Given the description of an element on the screen output the (x, y) to click on. 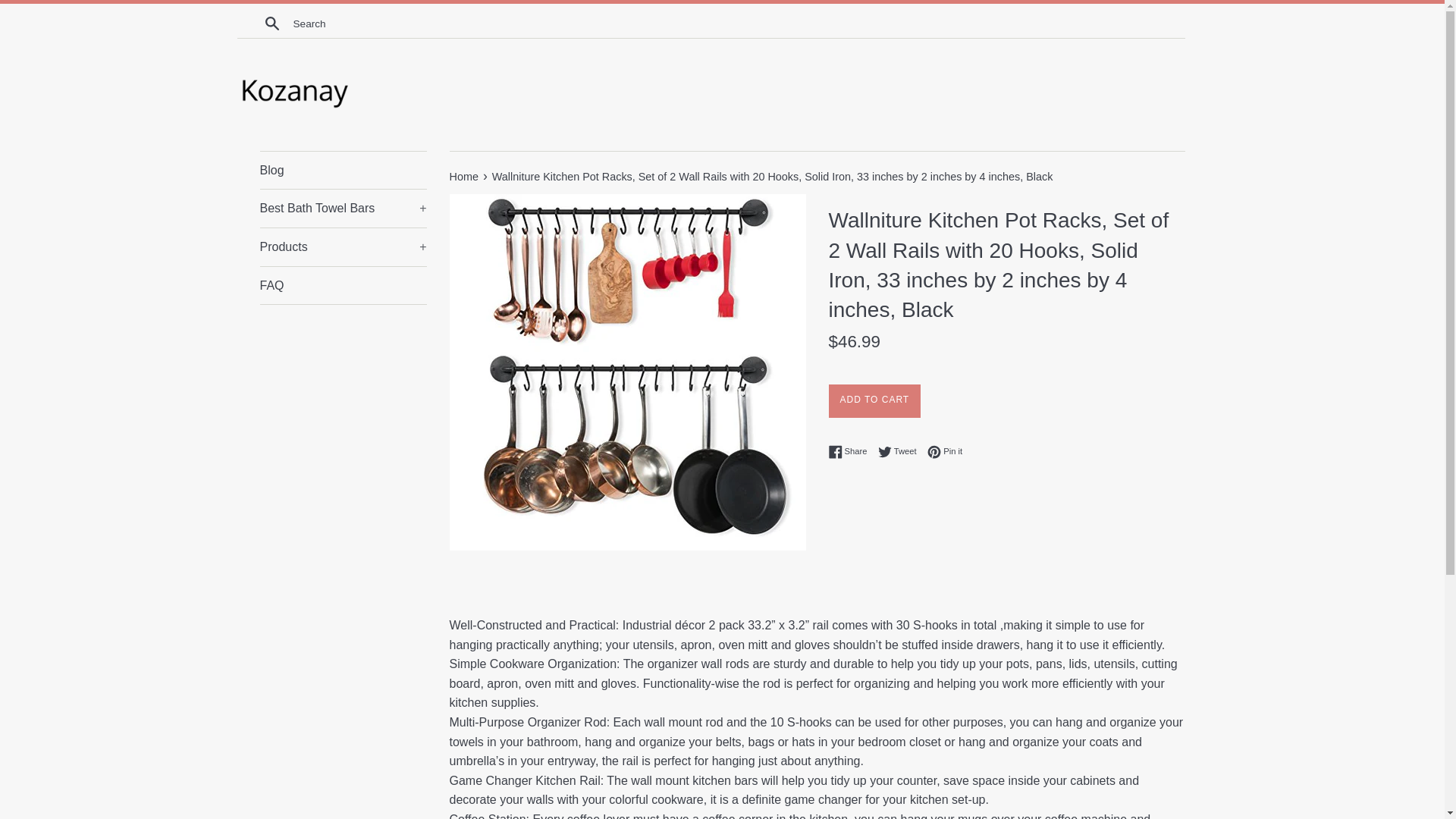
Tweet on Twitter (900, 451)
Share on Facebook (851, 451)
Back to the frontpage (464, 176)
Pin on Pinterest (944, 451)
Blog (900, 451)
Home (342, 170)
FAQ (464, 176)
ADD TO CART (342, 285)
